Given the description of an element on the screen output the (x, y) to click on. 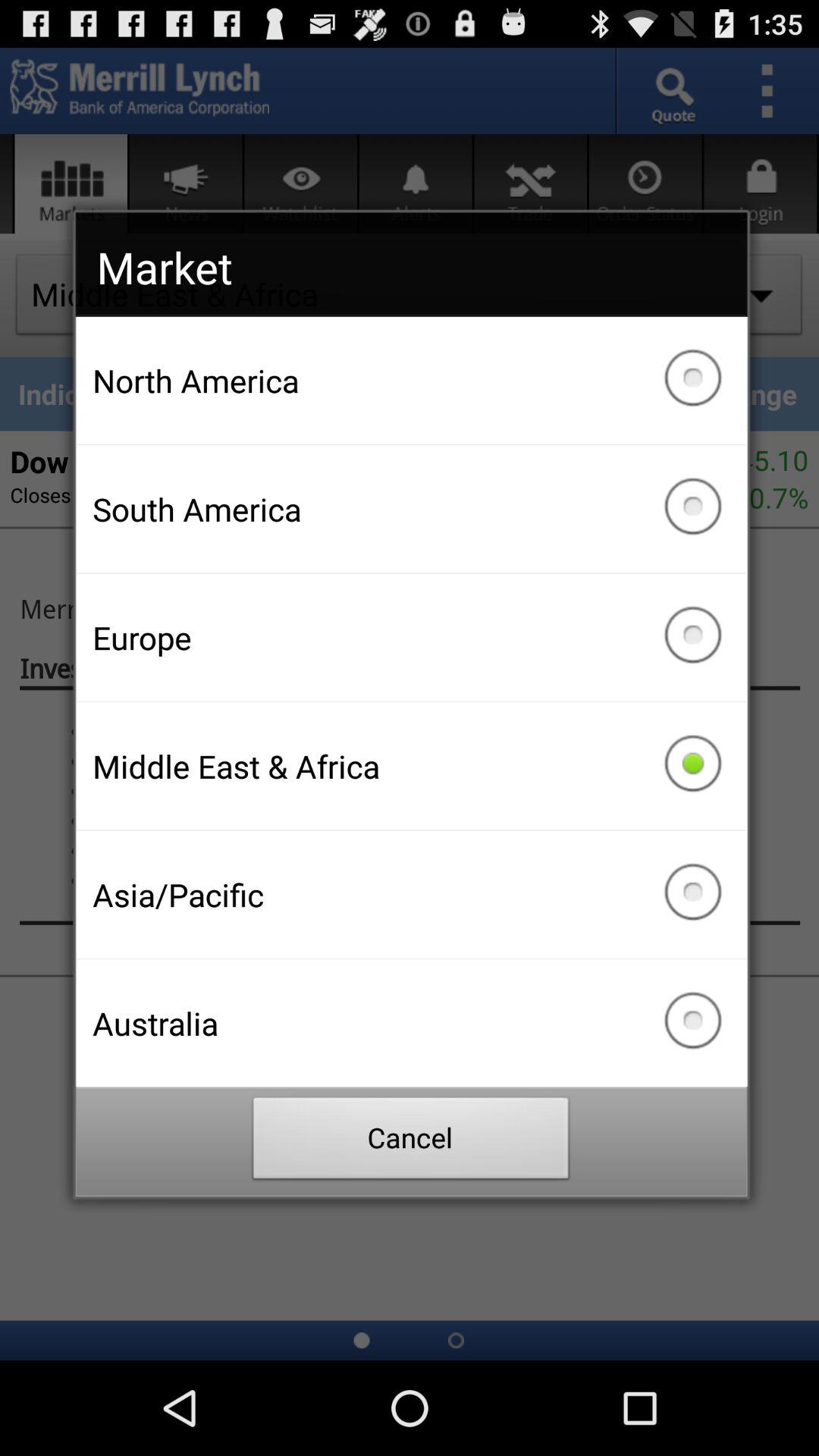
turn off icon below australia checkbox (410, 1142)
